Given the description of an element on the screen output the (x, y) to click on. 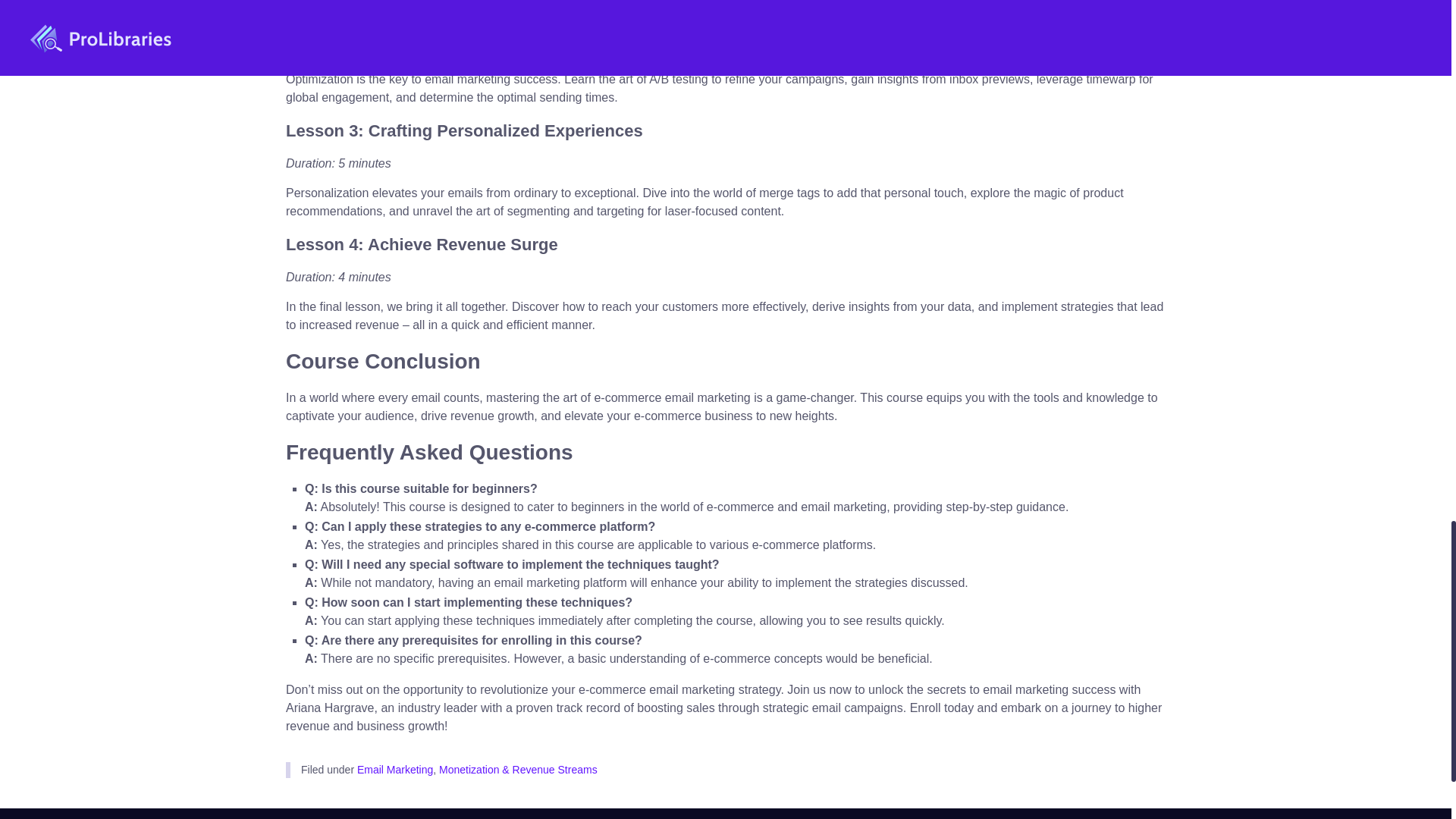
Email Marketing (394, 769)
